Given the description of an element on the screen output the (x, y) to click on. 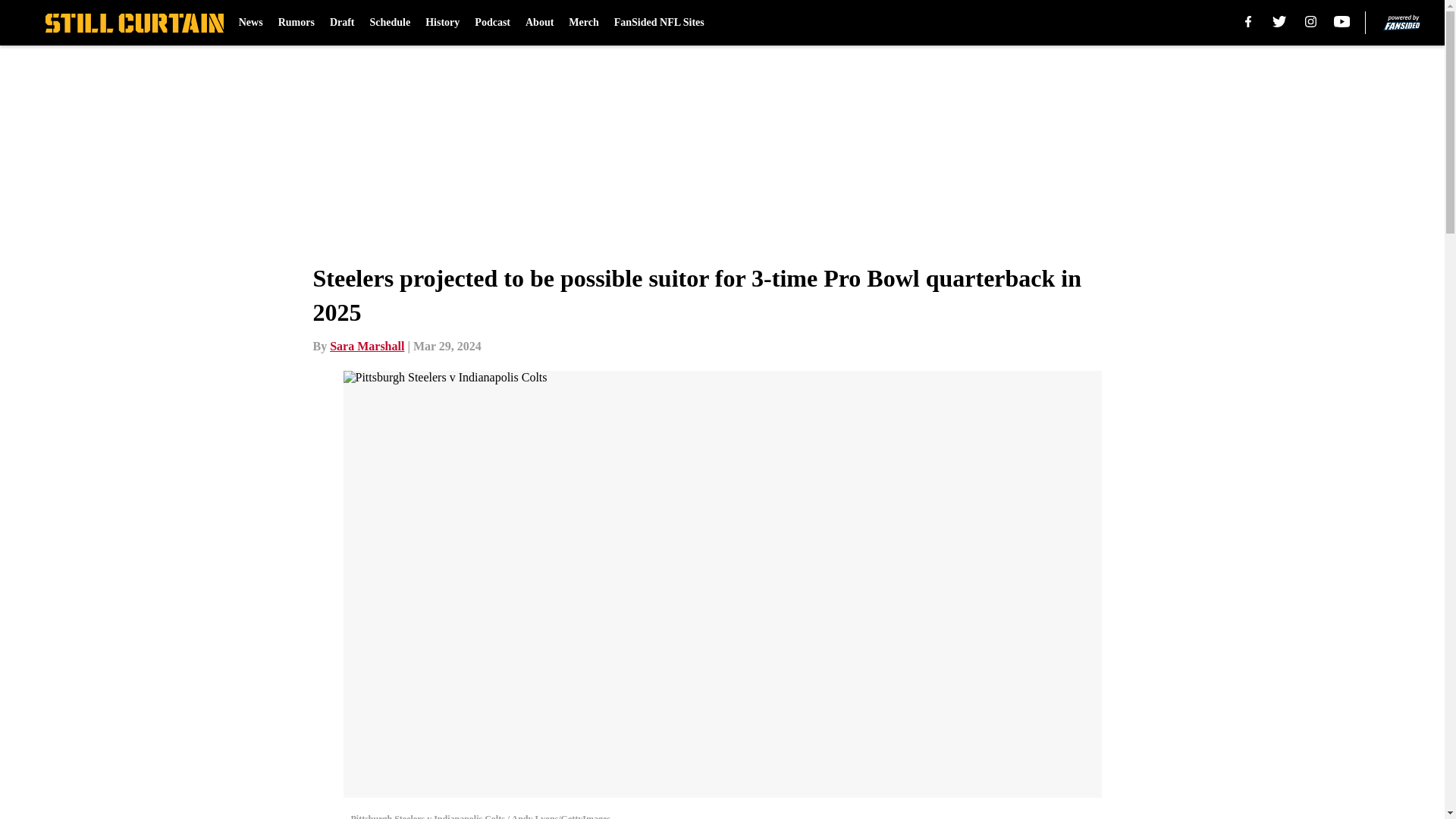
Schedule (389, 22)
FanSided NFL Sites (659, 22)
About (539, 22)
Rumors (296, 22)
Merch (583, 22)
Podcast (492, 22)
Draft (342, 22)
History (442, 22)
Sara Marshall (367, 345)
News (250, 22)
